Given the description of an element on the screen output the (x, y) to click on. 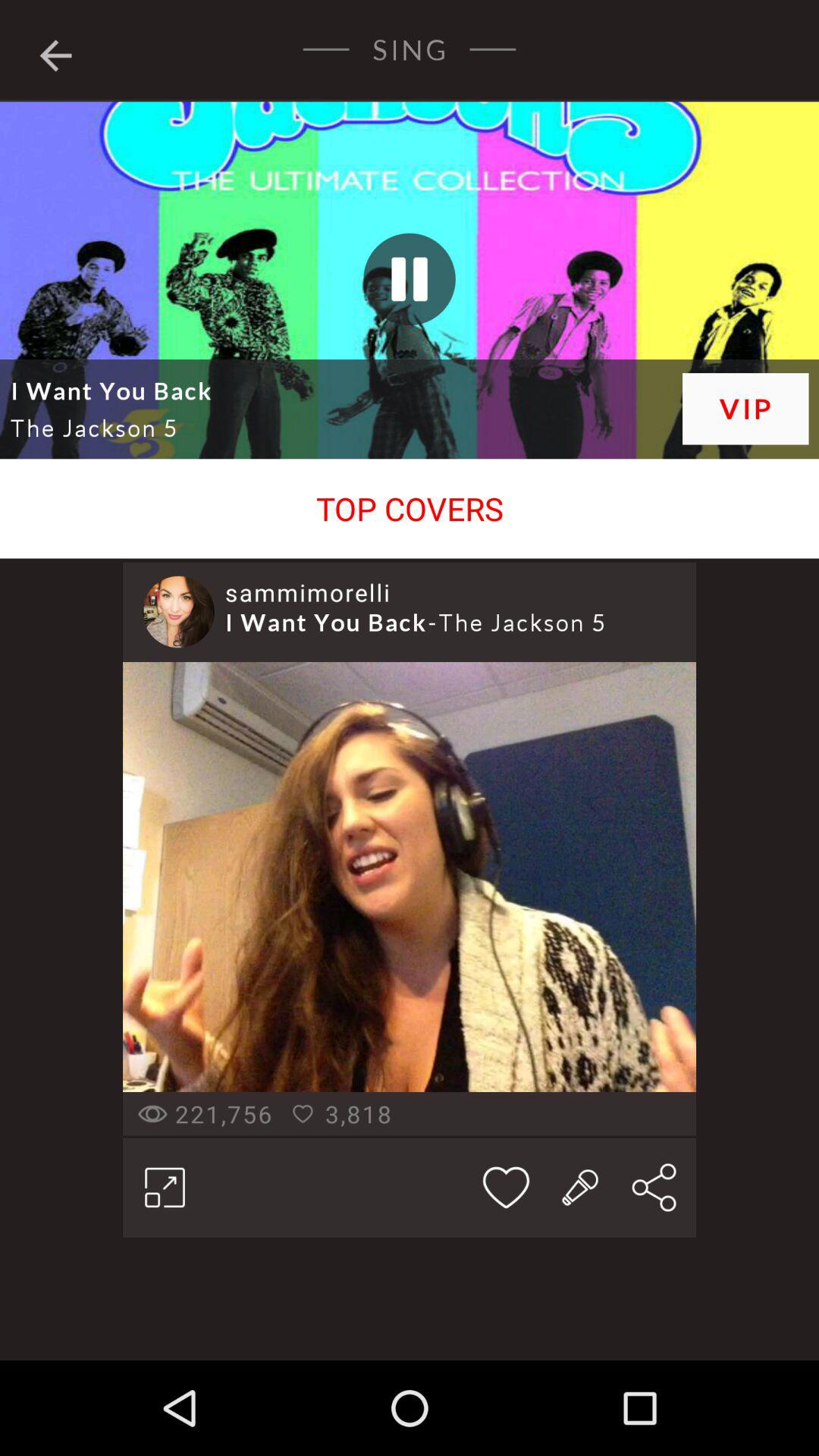
launch the sammimorelli item (307, 592)
